Given the description of an element on the screen output the (x, y) to click on. 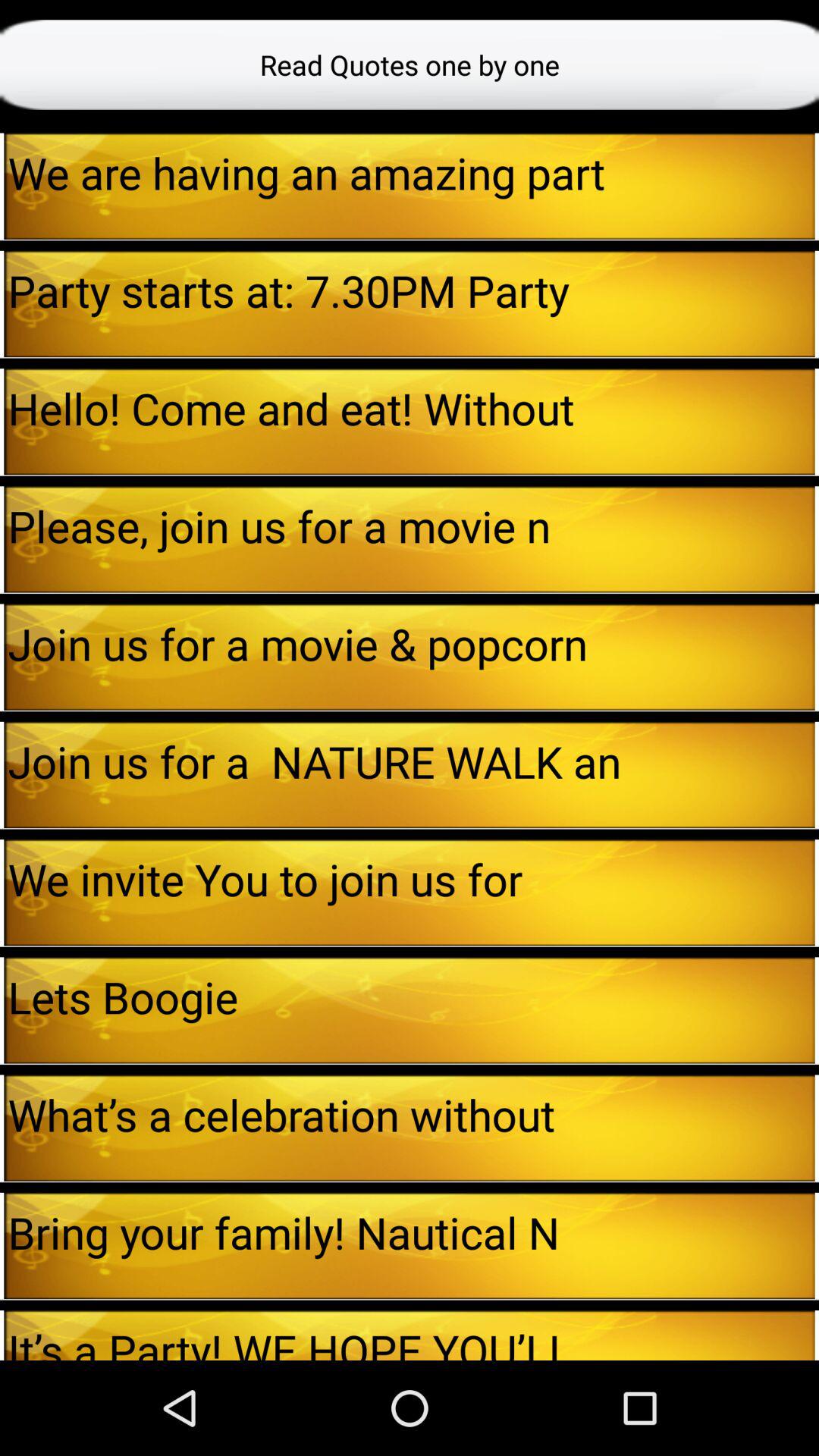
tap item to the left of the please join us item (1, 539)
